Given the description of an element on the screen output the (x, y) to click on. 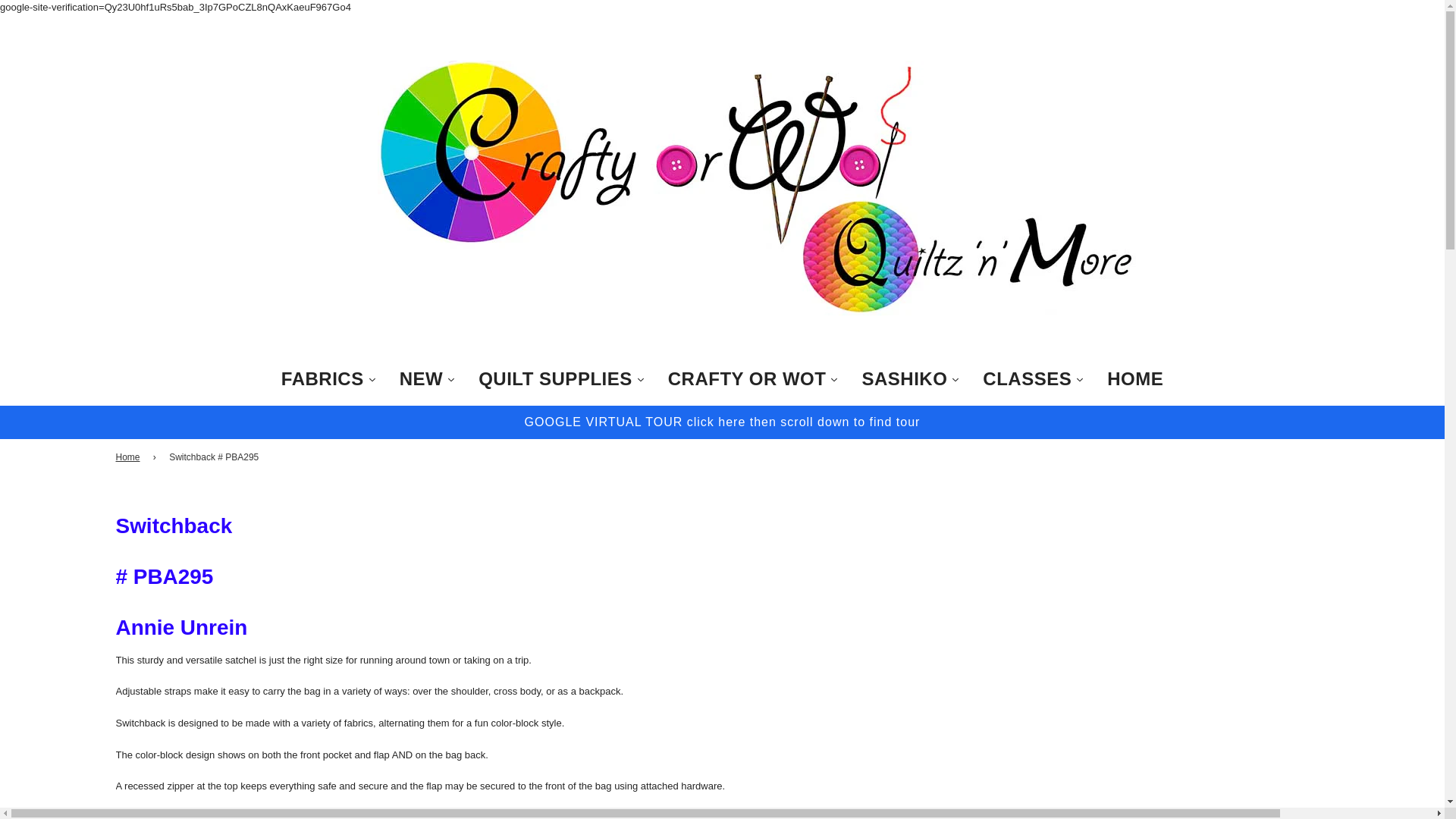
FABRICS (328, 378)
SASHIKO (910, 378)
HOME (1135, 378)
Back to the frontpage (129, 457)
QUILT SUPPLIES (561, 378)
CRAFTY OR WOT (753, 378)
CLASSES (1033, 378)
NEW (427, 378)
